Given the description of an element on the screen output the (x, y) to click on. 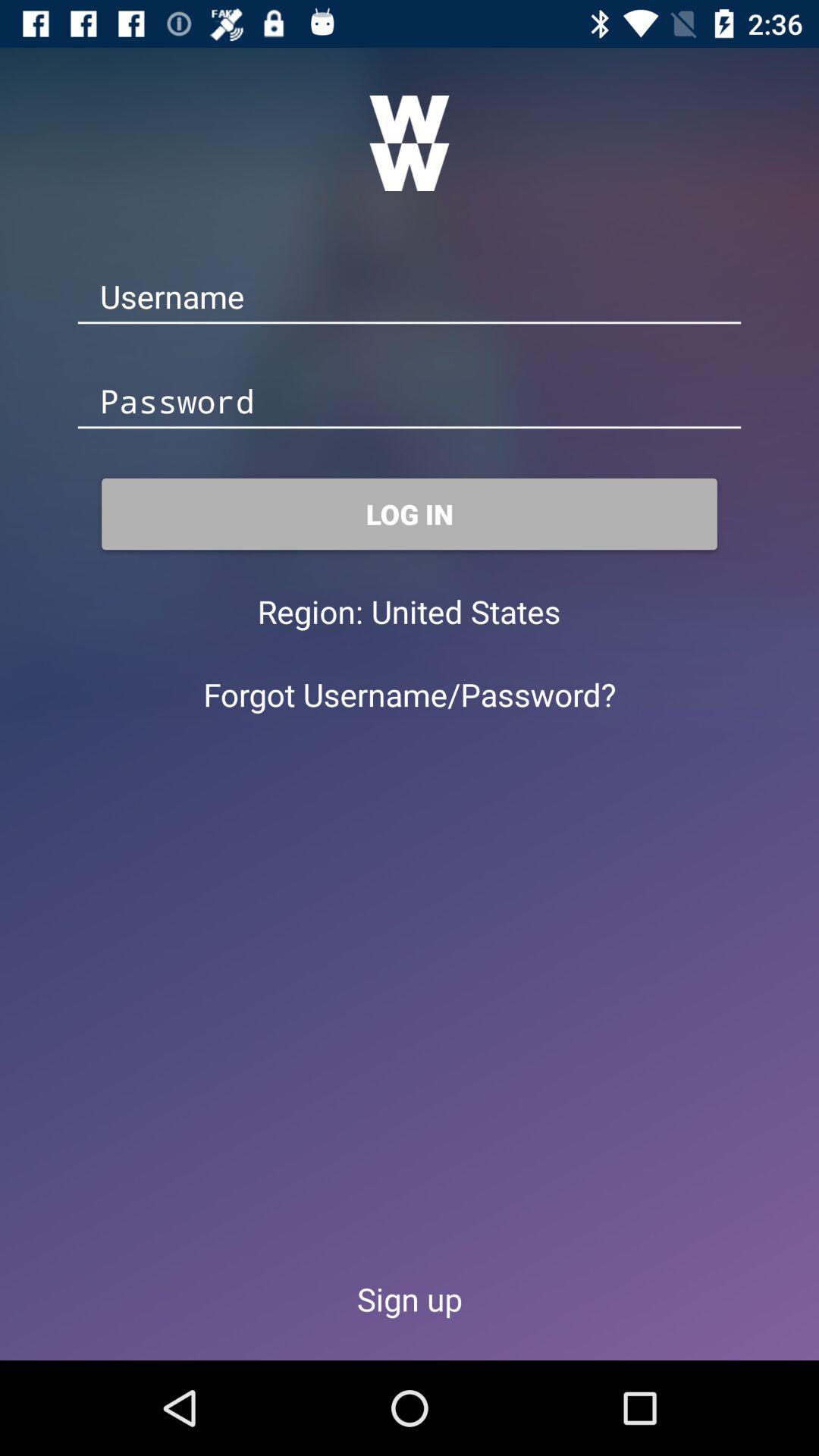
tap icon above sign up icon (409, 694)
